Given the description of an element on the screen output the (x, y) to click on. 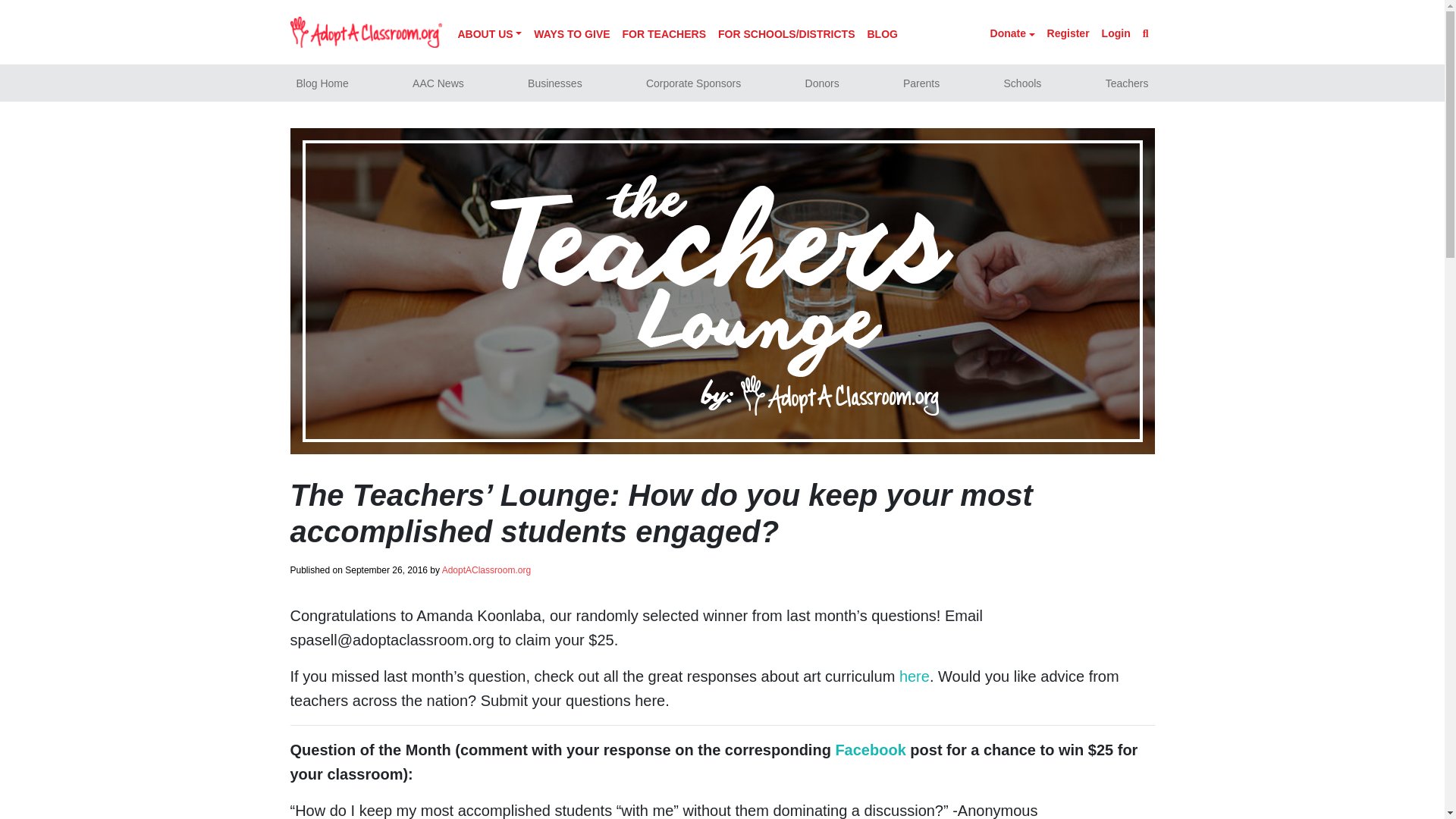
FOR TEACHERS (663, 34)
Businesses (554, 83)
Blog Home (321, 83)
Donate (1012, 34)
Teachers (1126, 83)
Corporate Sponsors (693, 83)
Donate (1012, 34)
BLOG (881, 34)
Donors (822, 83)
FOR TEACHERS (663, 34)
ABOUT US (489, 34)
Register (1068, 34)
Schools (1022, 83)
Facebook (869, 750)
ABOUT US (489, 34)
